Given the description of an element on the screen output the (x, y) to click on. 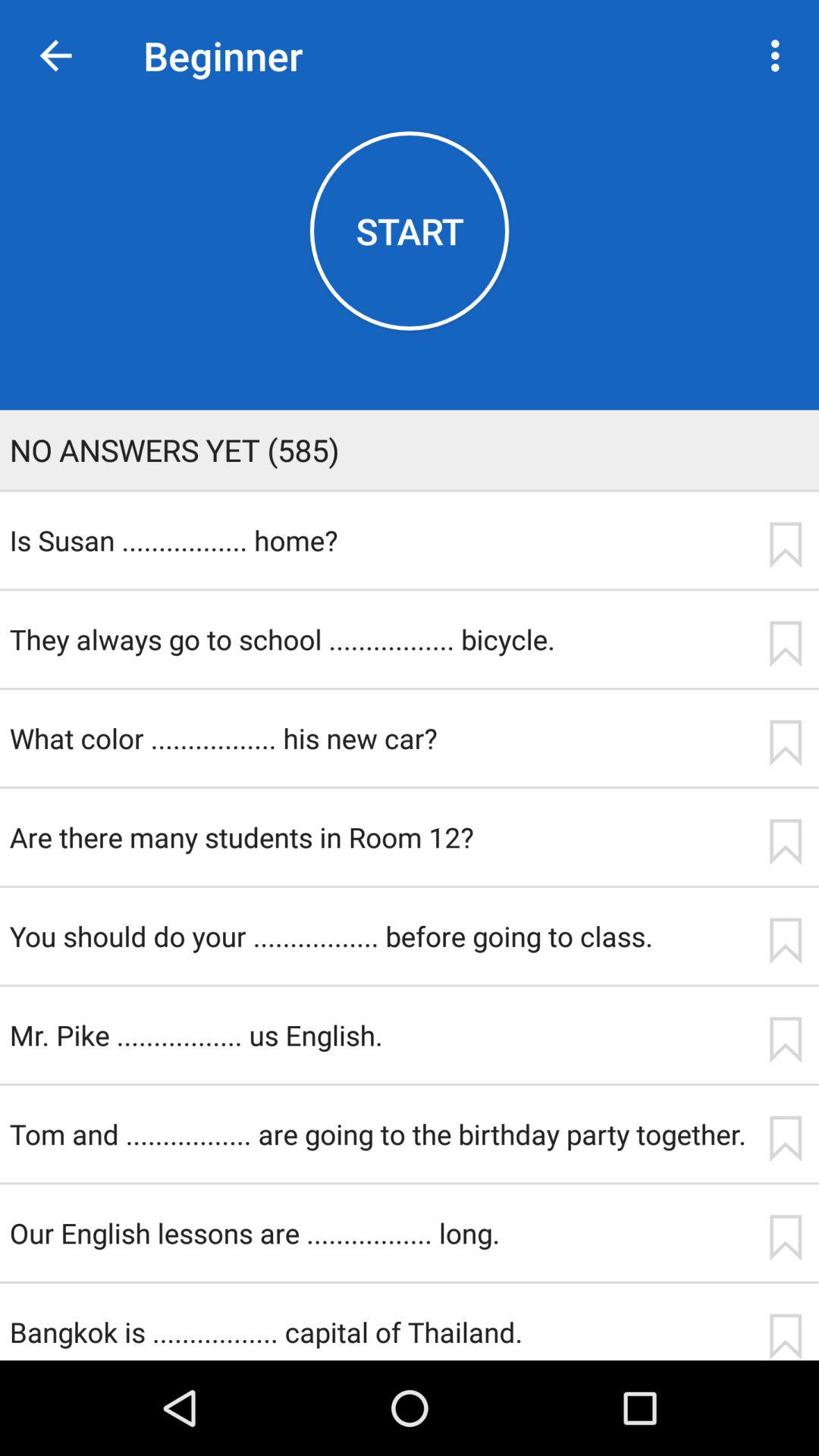
save for later (784, 1039)
